Given the description of an element on the screen output the (x, y) to click on. 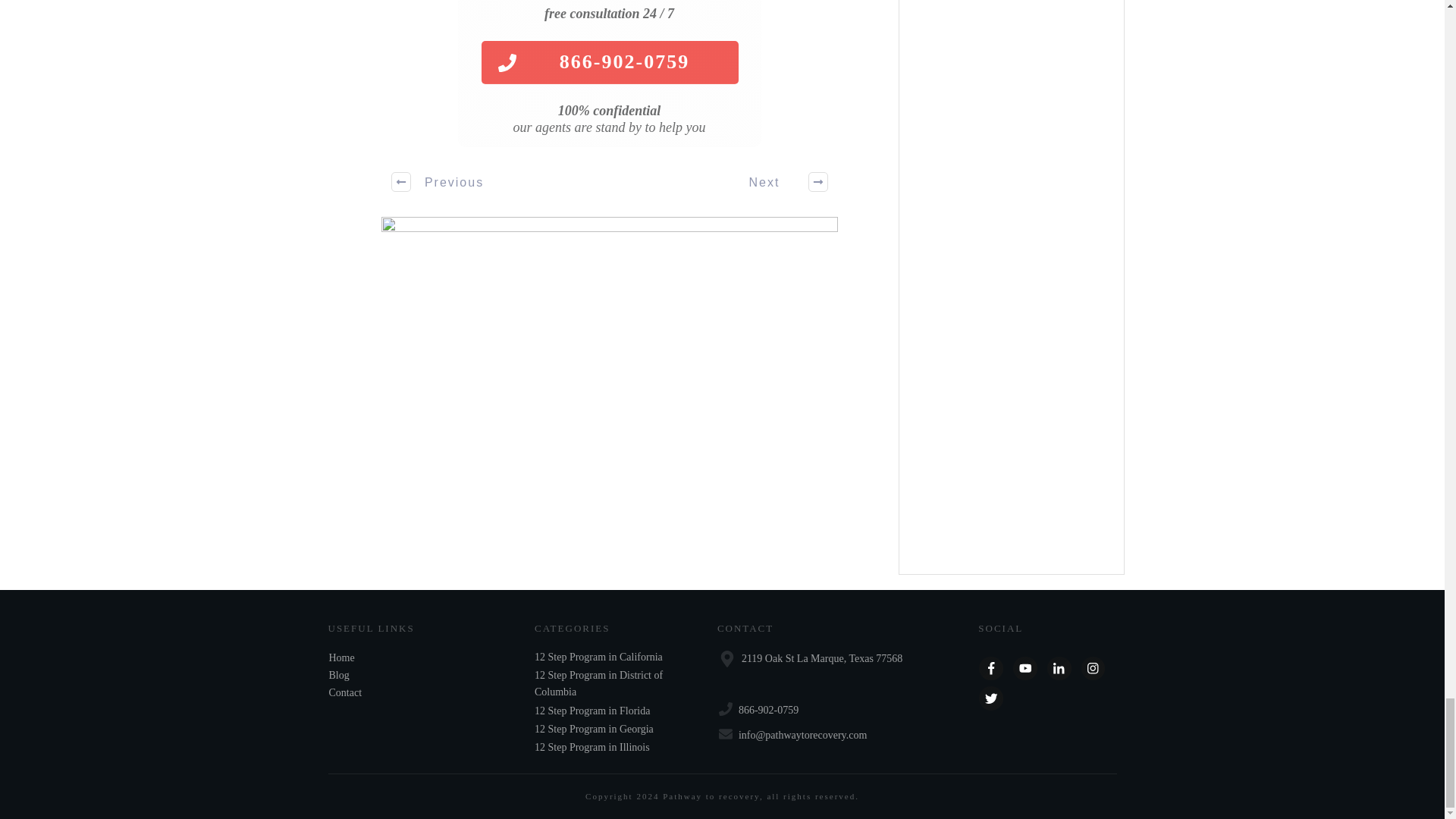
Home (342, 656)
866-902-0759 (609, 62)
Next (780, 181)
Previous (438, 181)
Blog (339, 674)
